Given the description of an element on the screen output the (x, y) to click on. 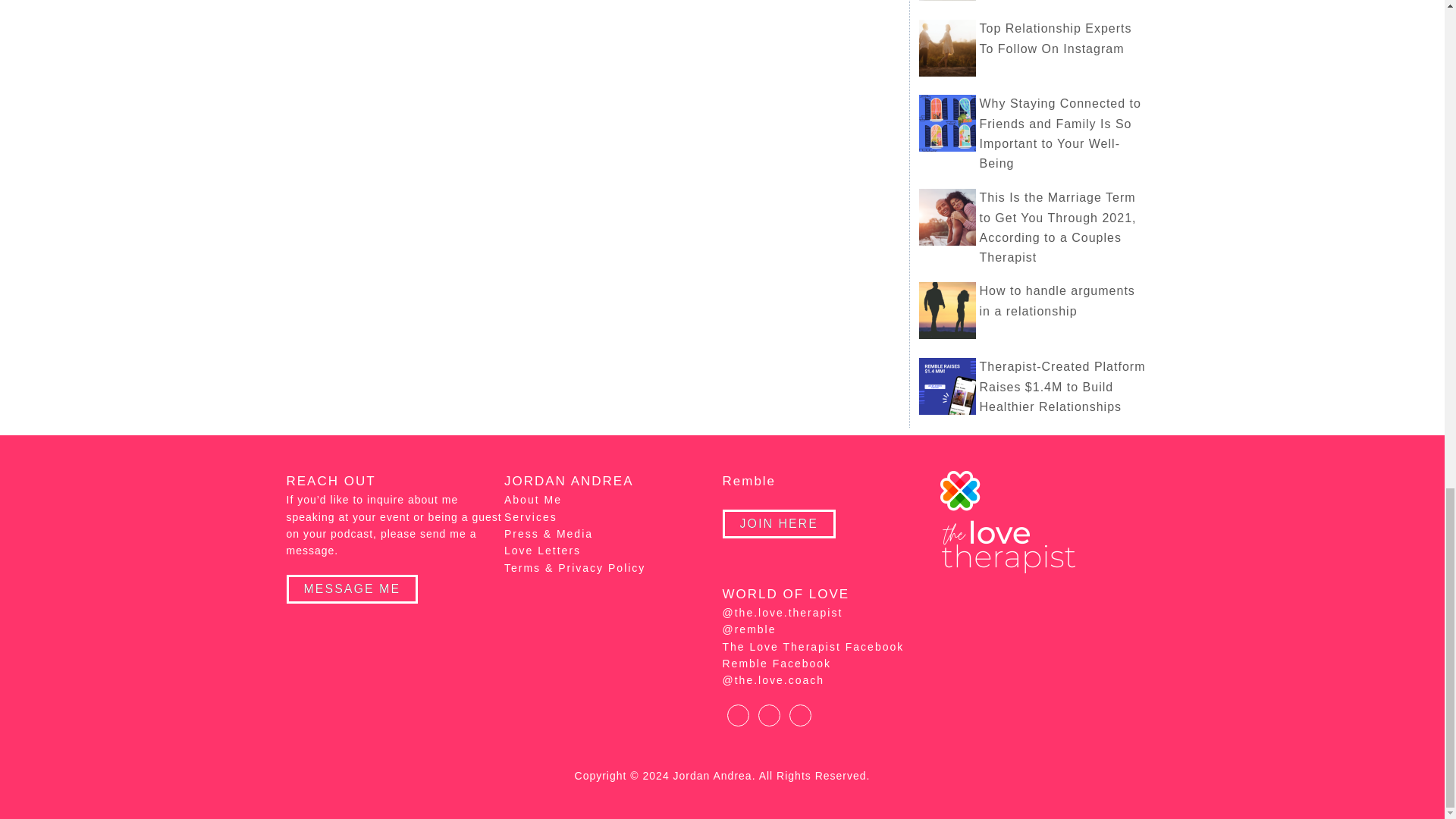
JOIN HERE (778, 523)
How to handle arguments in a relationship (1057, 300)
Love Letters (541, 550)
Top Relationship Experts To Follow On Instagram (1055, 38)
The Love Therapist Facebook (813, 646)
MESSAGE ME (352, 588)
Services (530, 517)
About Me (532, 499)
